Given the description of an element on the screen output the (x, y) to click on. 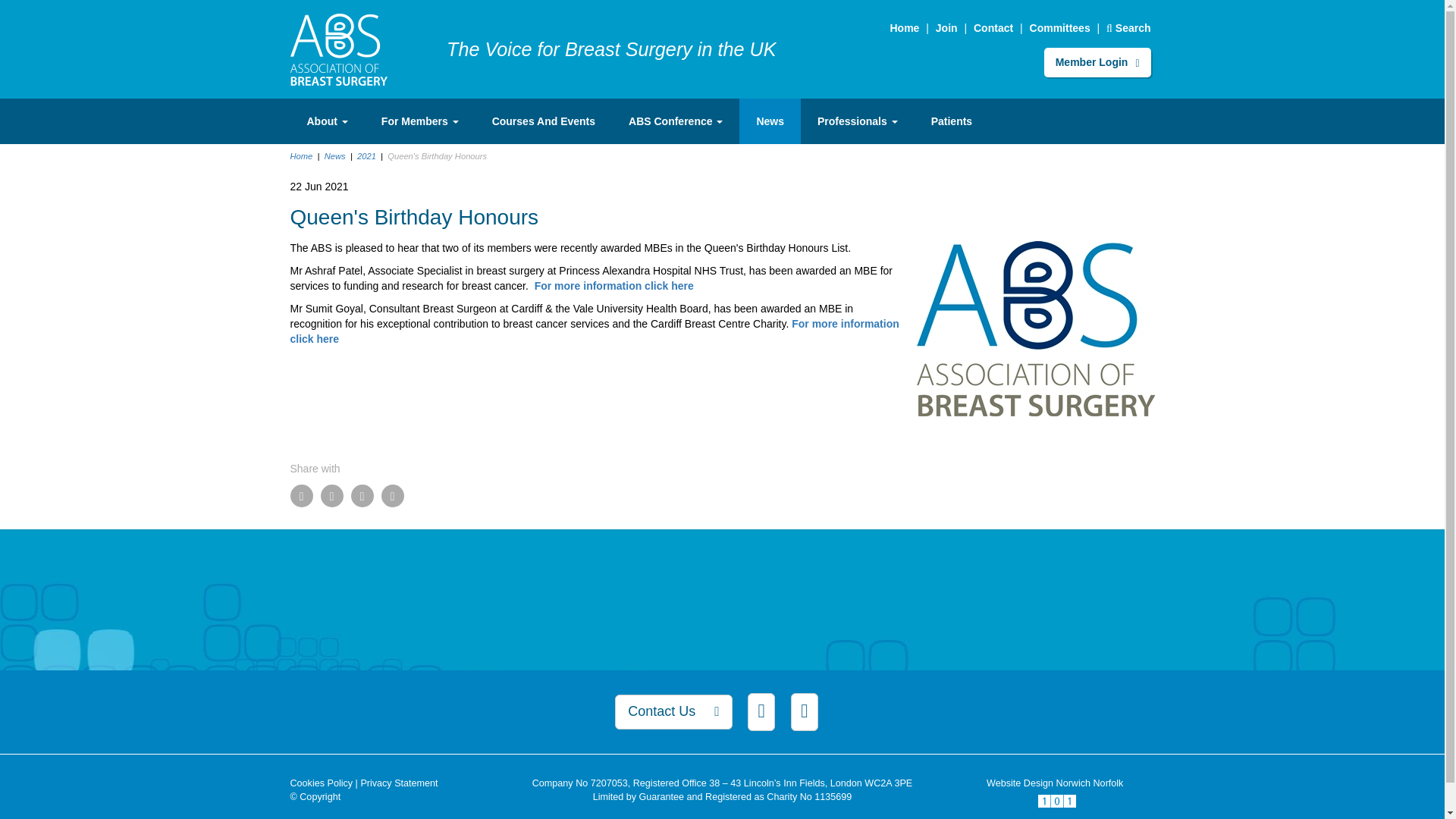
Search (1128, 28)
Member Login (1097, 61)
Home (338, 48)
Home (903, 28)
Join ABS (947, 28)
About (326, 121)
For Members (420, 121)
Home (903, 28)
Committees (1059, 28)
Join (947, 28)
Courses And Events (543, 121)
Contact Us (993, 28)
ABS Conference (675, 121)
Search (1128, 28)
Member Login (1097, 61)
